Given the description of an element on the screen output the (x, y) to click on. 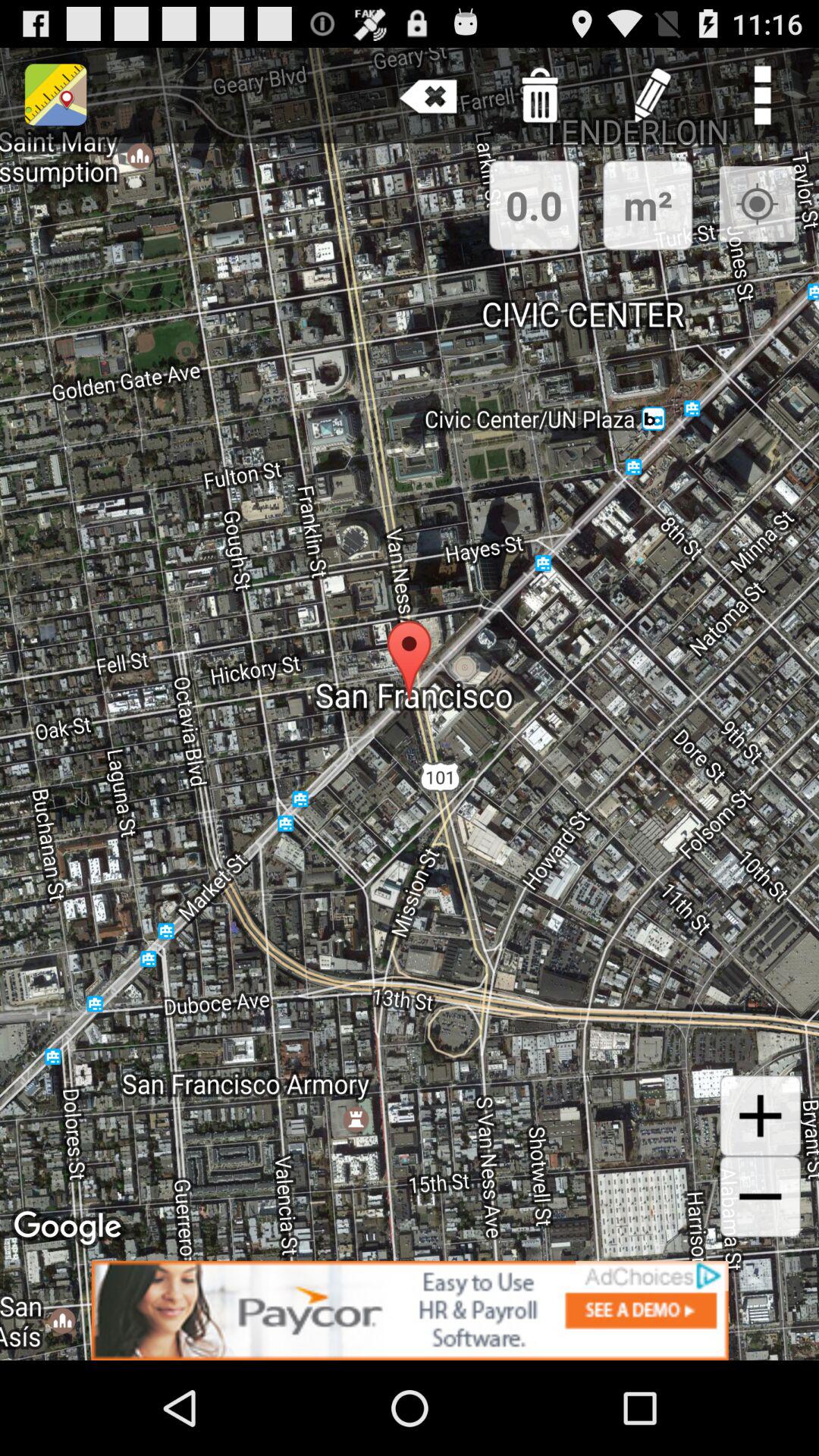
open advertisement (409, 1310)
